Given the description of an element on the screen output the (x, y) to click on. 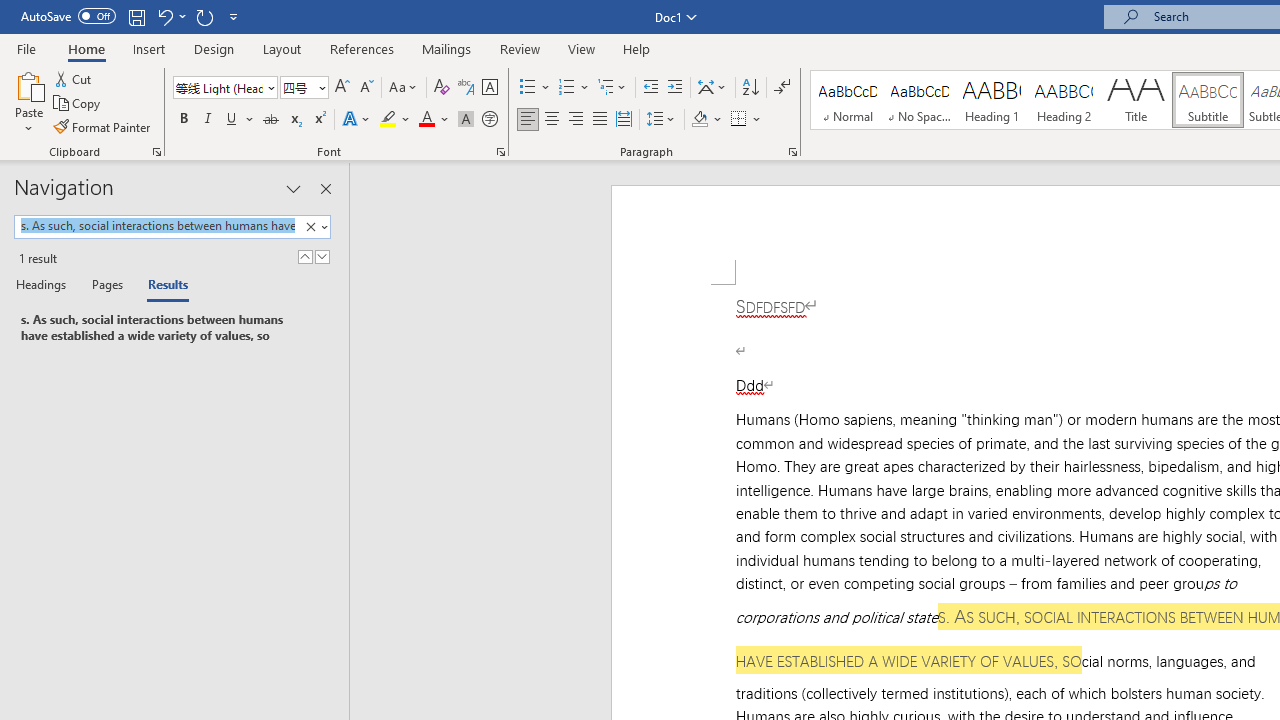
Clear (314, 227)
